Given the description of an element on the screen output the (x, y) to click on. 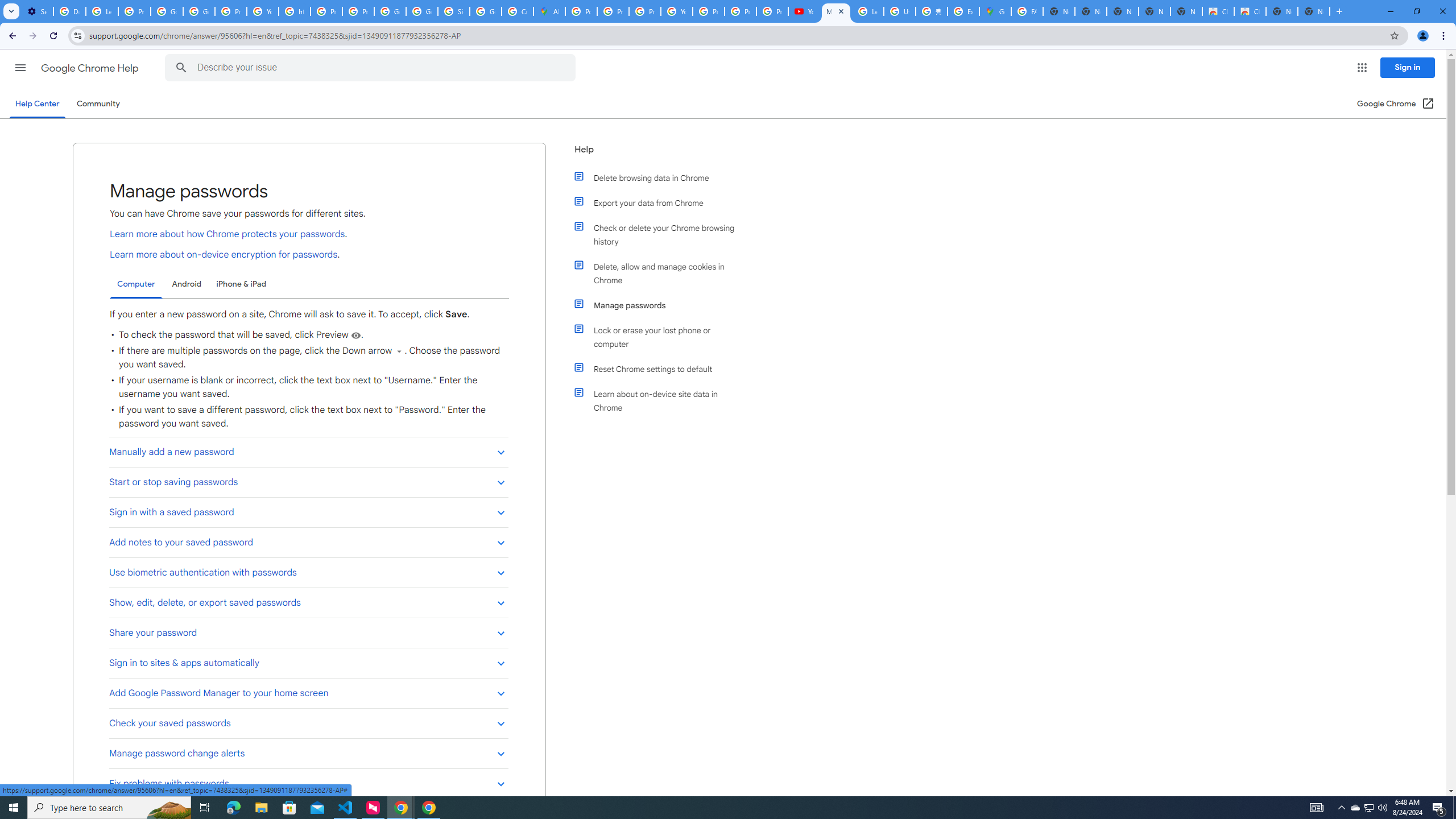
Privacy Help Center - Policies Help (644, 11)
Start or stop saving passwords (308, 481)
Google Chrome Help (90, 68)
Settings - On startup (37, 11)
Google Chrome (Open in a new window) (1395, 103)
Privacy Checkup (740, 11)
YouTube (262, 11)
Manually add a new password (308, 451)
Preview (355, 335)
https://scholar.google.com/ (294, 11)
Privacy Help Center - Policies Help (613, 11)
Explore new street-level details - Google Maps Help (963, 11)
Describe your issue (371, 67)
